Given the description of an element on the screen output the (x, y) to click on. 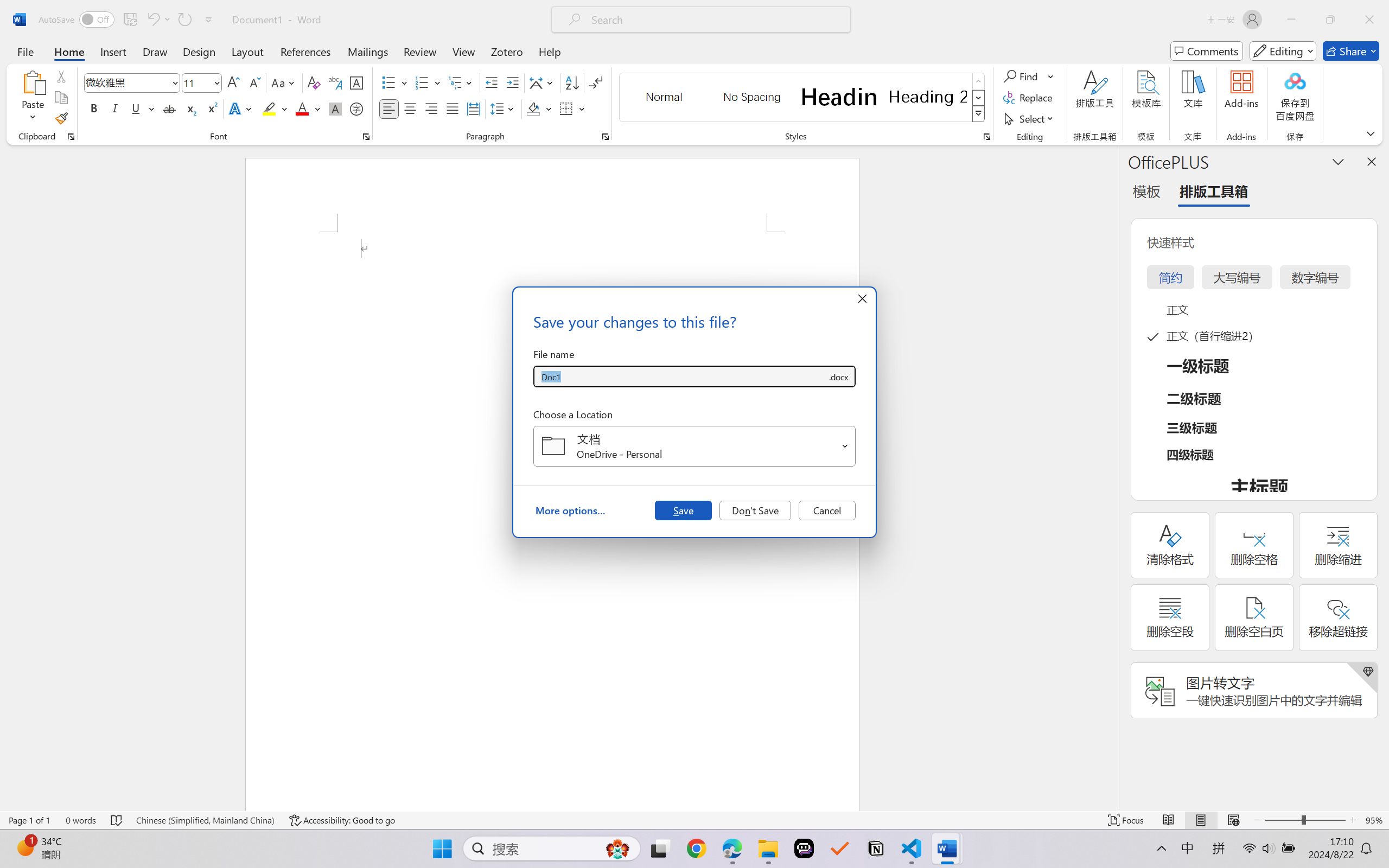
Cancel (826, 509)
